Given the description of an element on the screen output the (x, y) to click on. 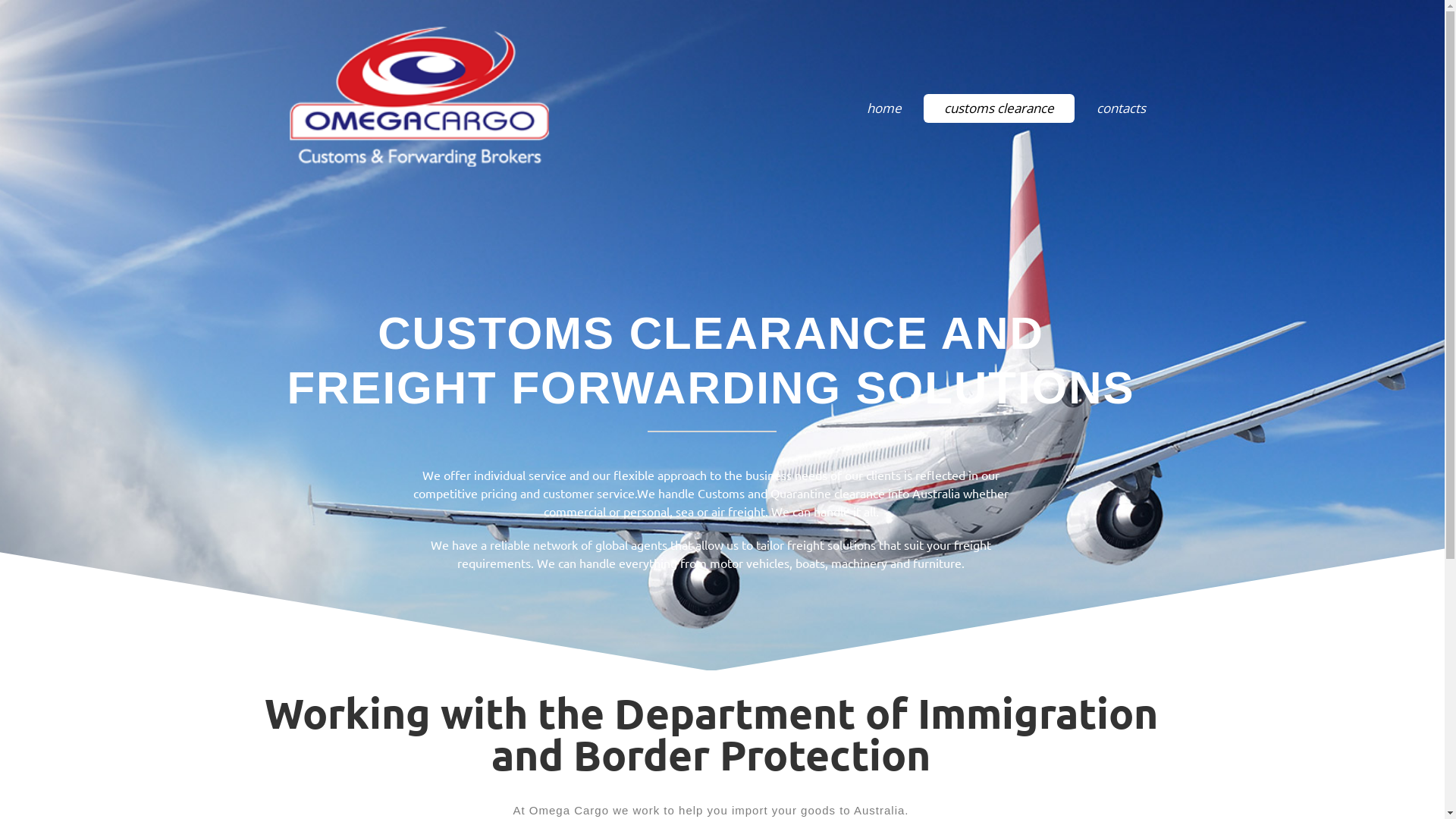
customs clearance Element type: text (998, 108)
contacts Element type: text (1120, 108)
home Element type: text (884, 108)
